Given the description of an element on the screen output the (x, y) to click on. 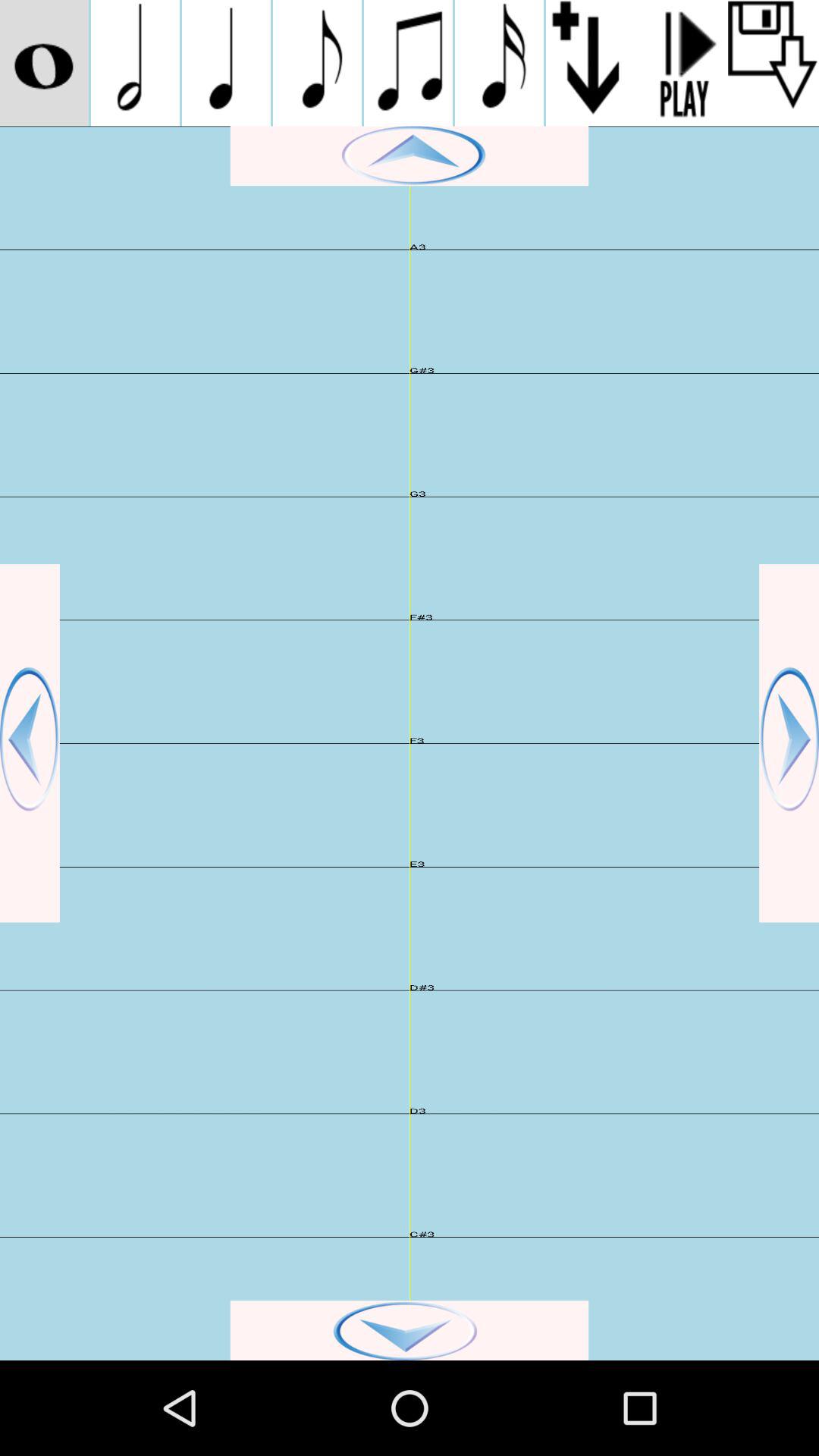
move down (409, 1330)
